Given the description of an element on the screen output the (x, y) to click on. 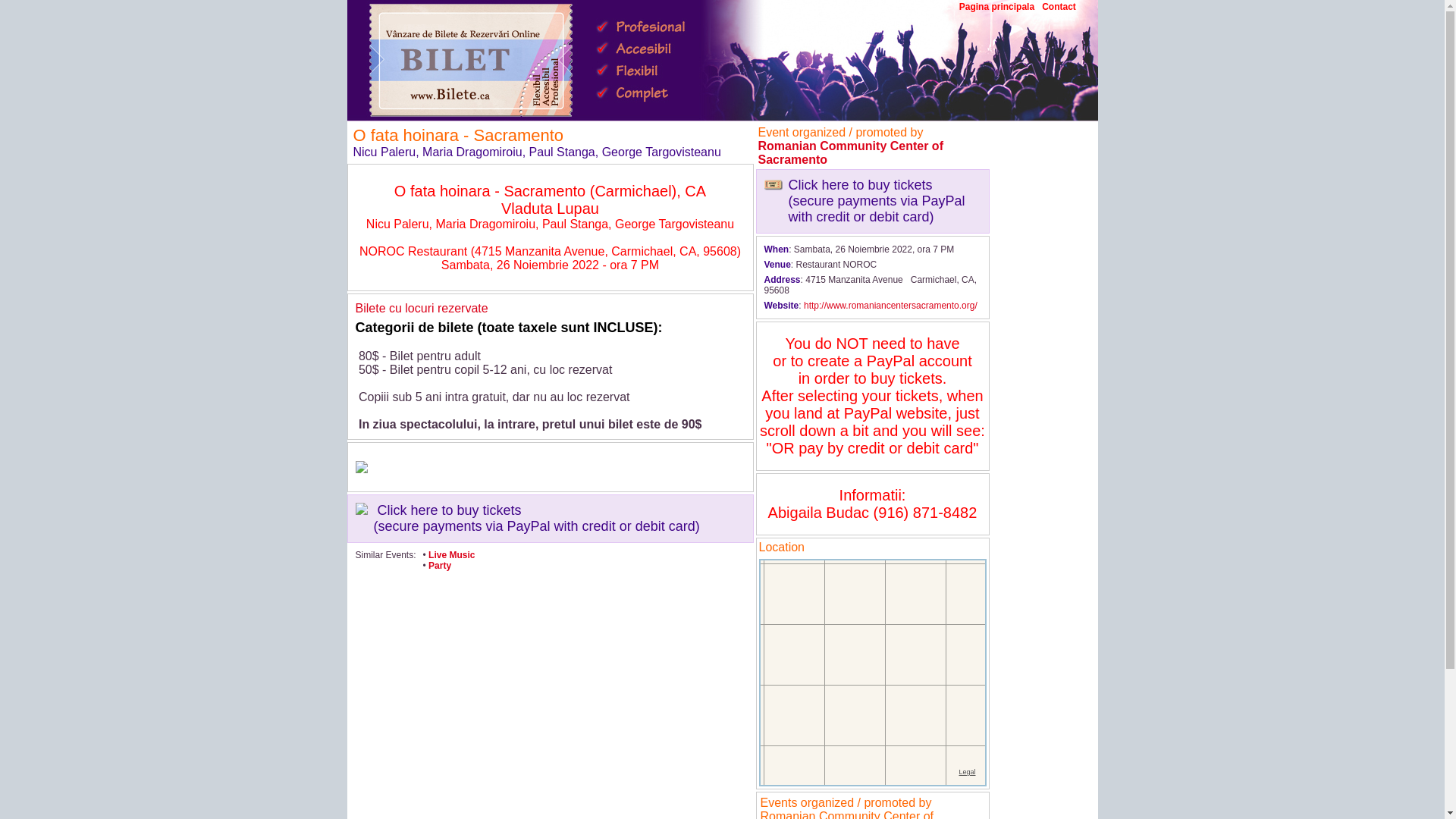
Contact Element type: text (1058, 6)
Live Music Element type: text (451, 554)
Pagina principala Element type: text (996, 6)
Party Element type: text (439, 565)
Romanian Community Center of Sacramento Element type: text (850, 152)
http://www.romaniancentersacramento.org/ Element type: text (890, 305)
